Given the description of an element on the screen output the (x, y) to click on. 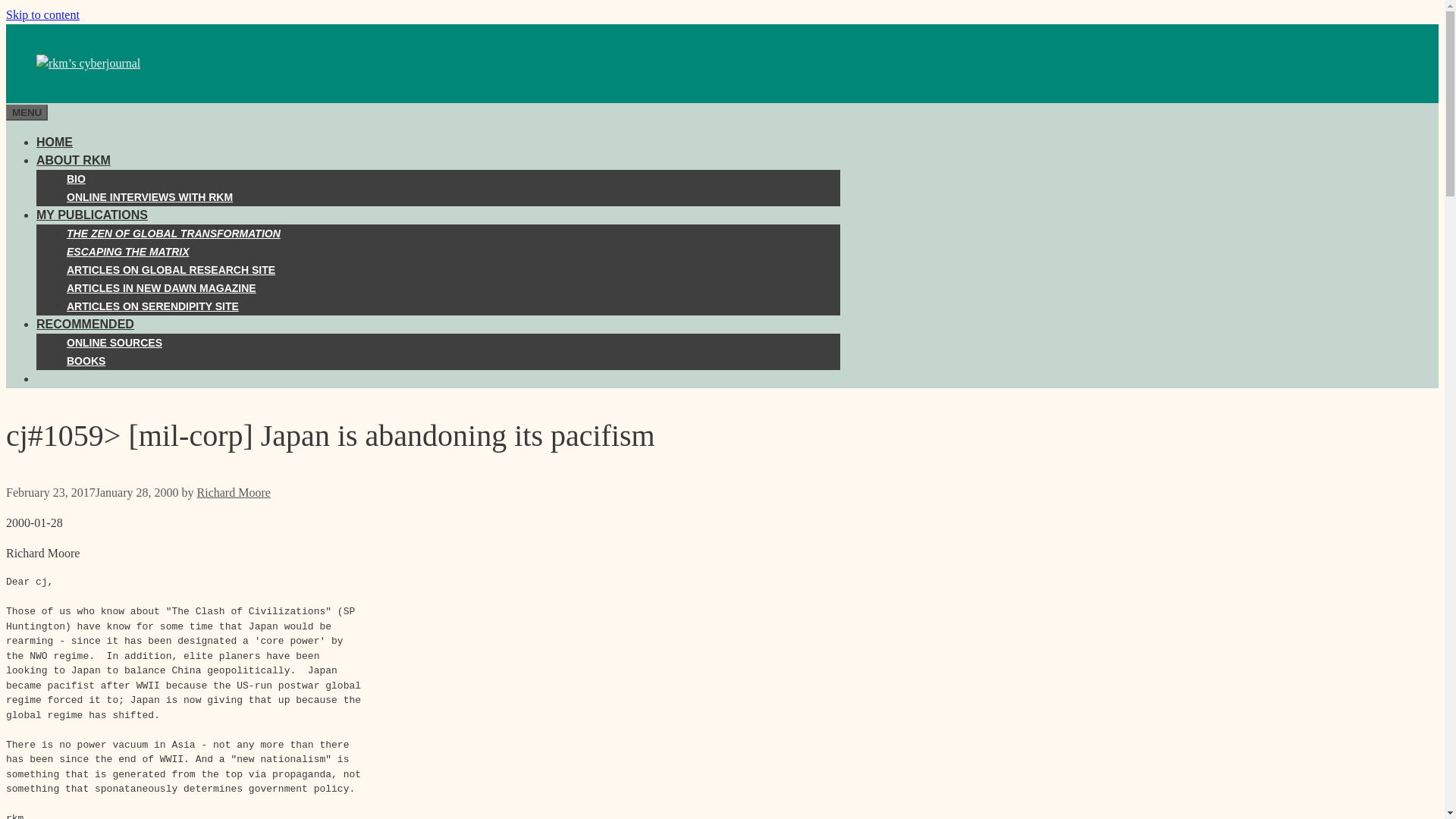
Skip to content (42, 14)
ARTICLES IN NEW DAWN MAGAZINE (161, 287)
ARTICLES ON SERENDIPITY SITE (152, 306)
Richard Moore (233, 492)
HOME (54, 141)
Skip to content (42, 14)
MY PUBLICATIONS (92, 214)
View all posts by Richard Moore (233, 492)
ARTICLES ON GLOBAL RESEARCH SITE (170, 269)
BIO (75, 178)
BOOKS (85, 360)
THE ZEN OF GLOBAL TRANSFORMATION (173, 233)
ONLINE SOURCES (113, 342)
ESCAPING THE MATRIX (127, 251)
ABOUT RKM (73, 160)
